Given the description of an element on the screen output the (x, y) to click on. 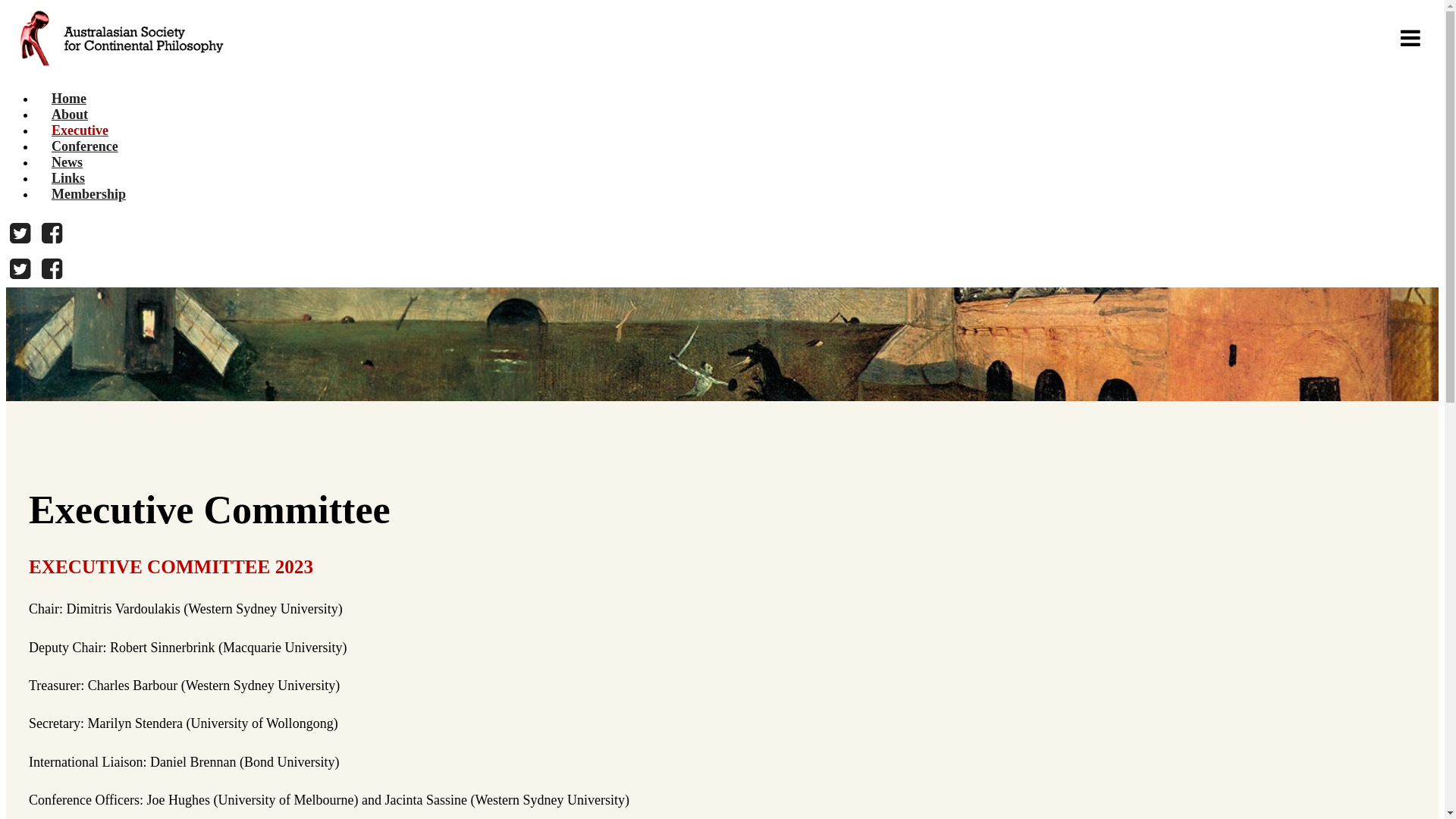
Membership Element type: text (88, 193)
ASCP Facebook Group Element type: hover (51, 269)
Home Element type: text (68, 98)
ASCP Twitter Element type: hover (20, 269)
News Element type: text (66, 162)
About Element type: text (69, 114)
Links Element type: text (68, 177)
Conference Element type: text (84, 146)
Executive Element type: text (79, 130)
ASCP Twitter Element type: hover (20, 233)
ASCP Facebook Group Element type: hover (51, 233)
